Given the description of an element on the screen output the (x, y) to click on. 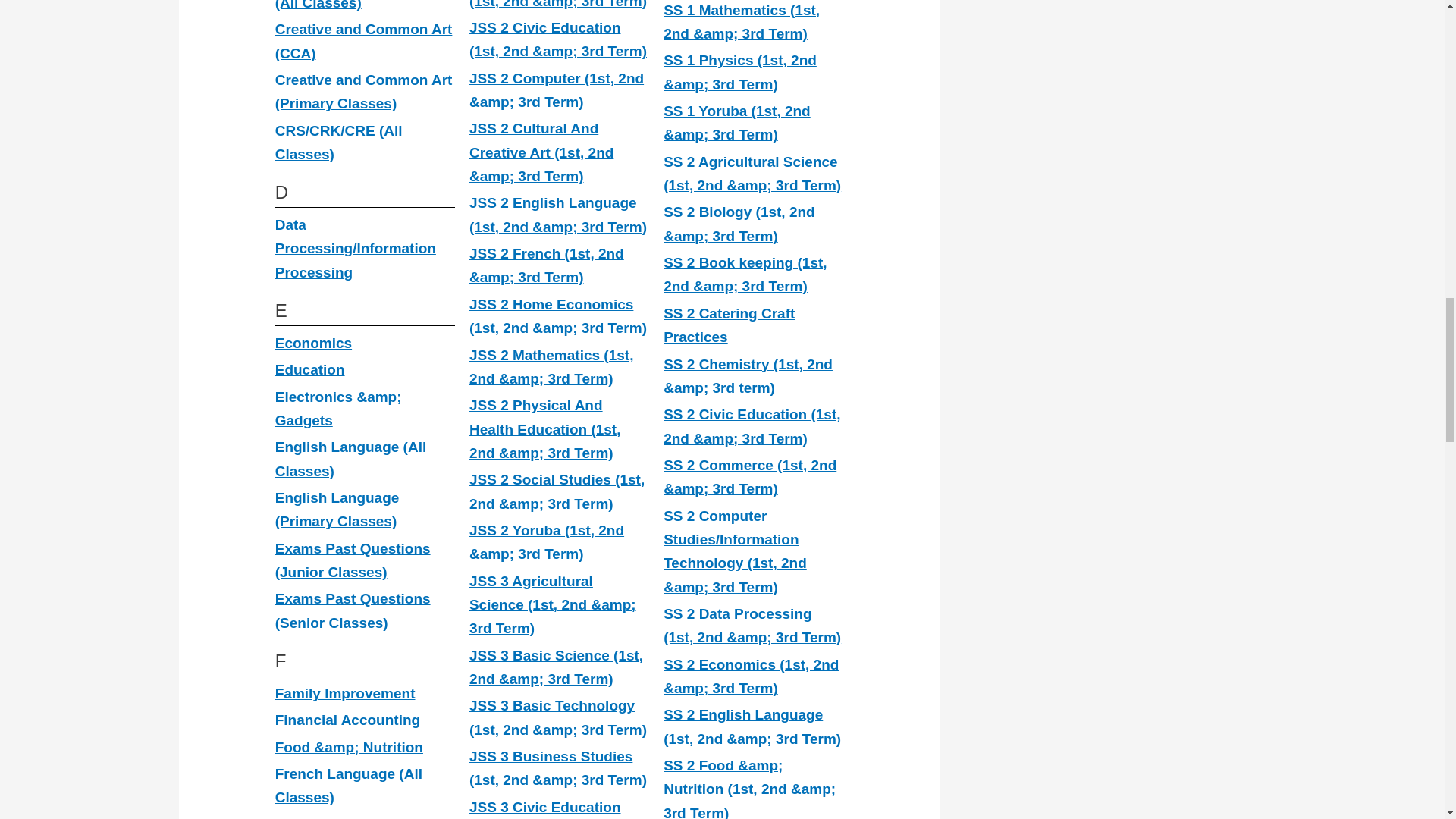
Education (310, 369)
Economics (313, 342)
